Given the description of an element on the screen output the (x, y) to click on. 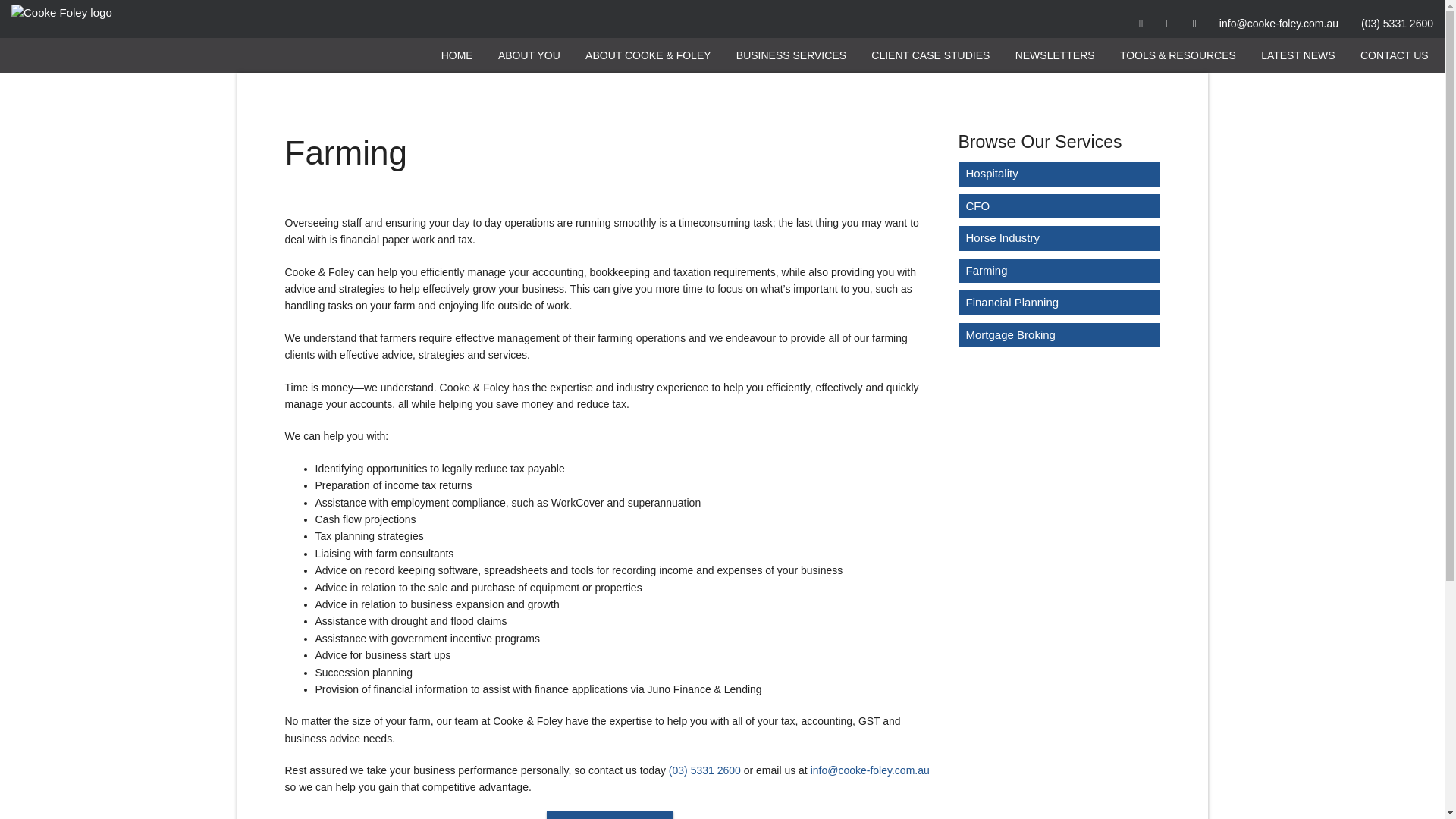
Horse Industry (1059, 238)
CONTACT US (609, 815)
NEWSLETTERS (1054, 54)
CONTACT US (609, 815)
Farming (1059, 270)
ABOUT YOU (529, 54)
HOME (456, 54)
BUSINESS SERVICES (790, 54)
LATEST NEWS (1297, 54)
CFO (1059, 206)
